Given the description of an element on the screen output the (x, y) to click on. 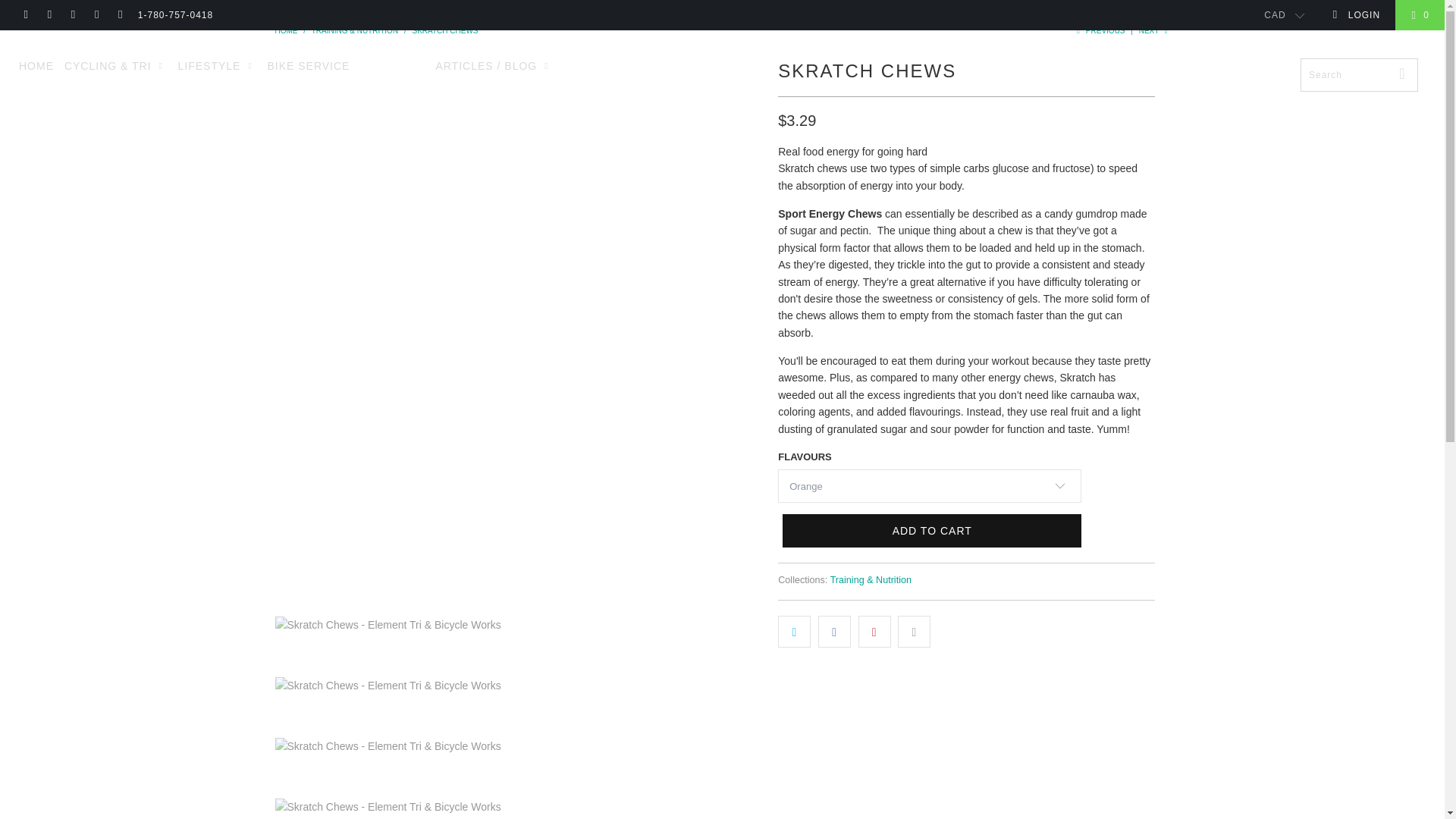
Previous (1099, 30)
Share this on Facebook (834, 631)
Email this to a friend (914, 631)
Share this on Twitter (793, 631)
My Account  (1355, 15)
Next (1154, 30)
Share this on Pinterest (875, 631)
